Given the description of an element on the screen output the (x, y) to click on. 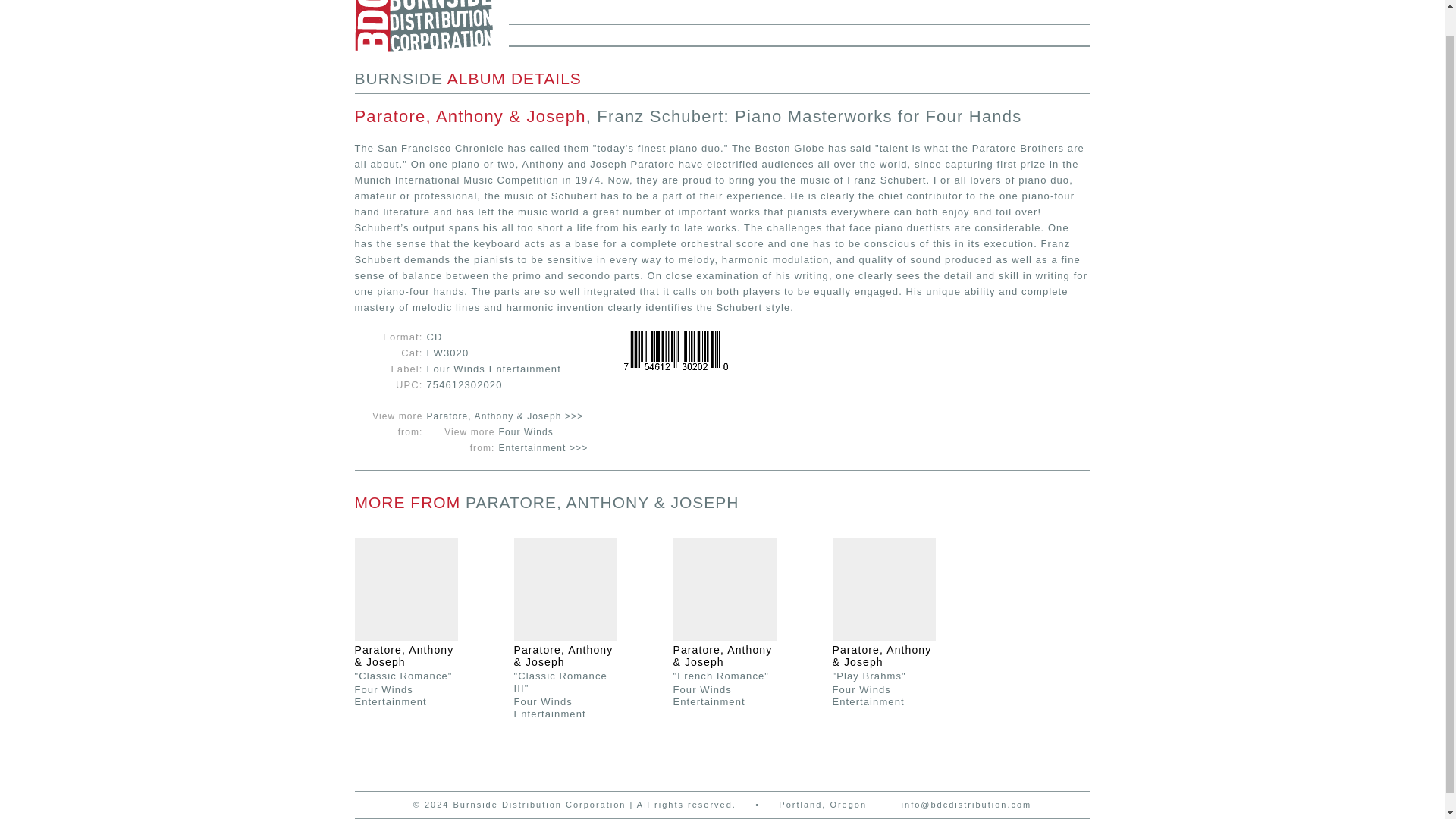
"Play Brahms" (868, 674)
Four Winds Entertainment (868, 694)
"Classic Romance III" (560, 680)
Four Winds Entertainment (708, 694)
Four Winds Entertainment (549, 707)
"Classic Romance" (403, 674)
Four Winds Entertainment (390, 694)
"French Romance" (721, 674)
